Given the description of an element on the screen output the (x, y) to click on. 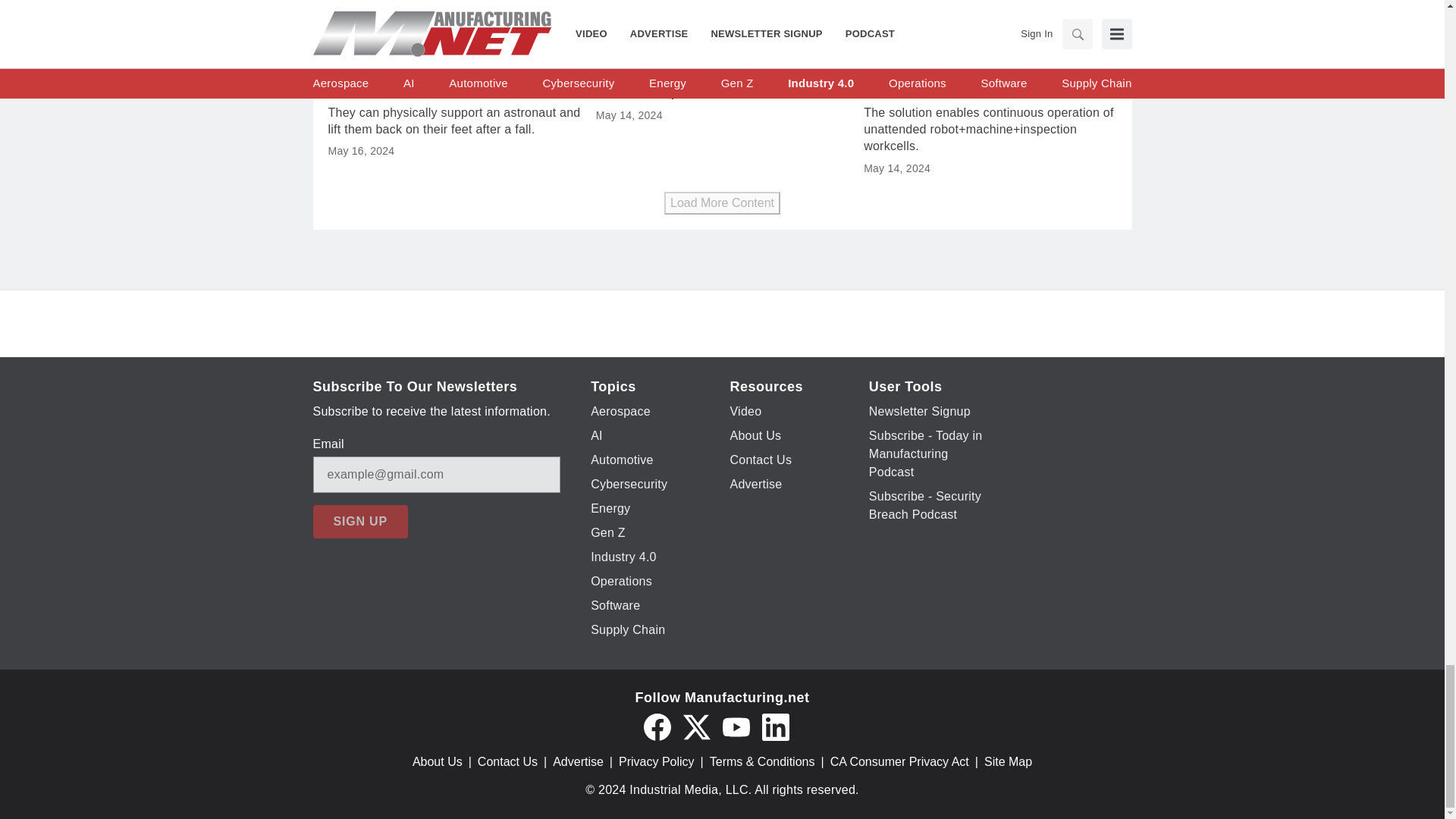
YouTube icon (735, 727)
Facebook icon (656, 727)
Twitter X icon (696, 727)
LinkedIn icon (775, 727)
